Given the description of an element on the screen output the (x, y) to click on. 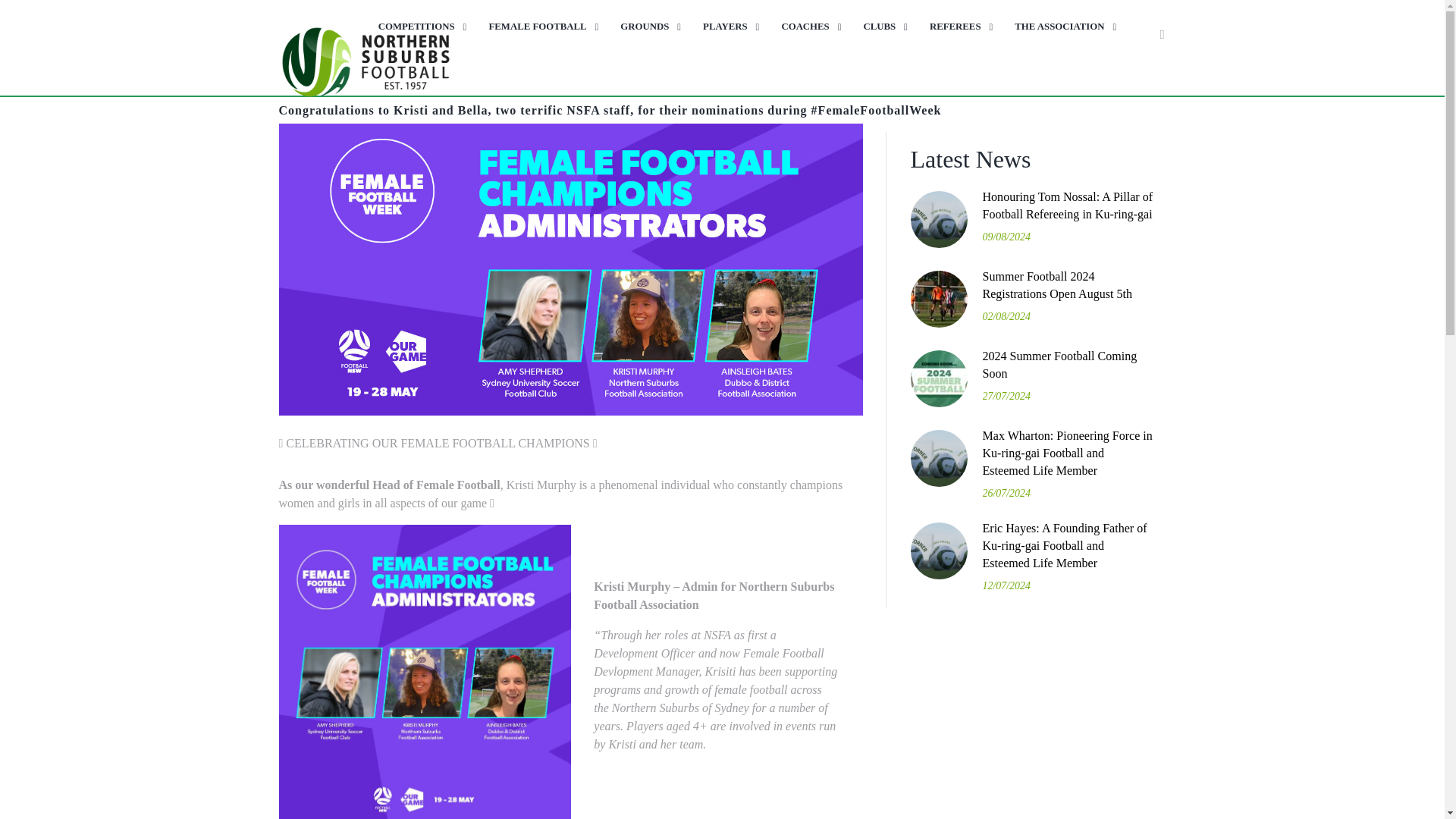
PLAYERS (727, 26)
Open search (1162, 34)
GROUNDS (646, 26)
FEMALE FOOTBALL (539, 26)
COMPETITIONS (419, 26)
